Given the description of an element on the screen output the (x, y) to click on. 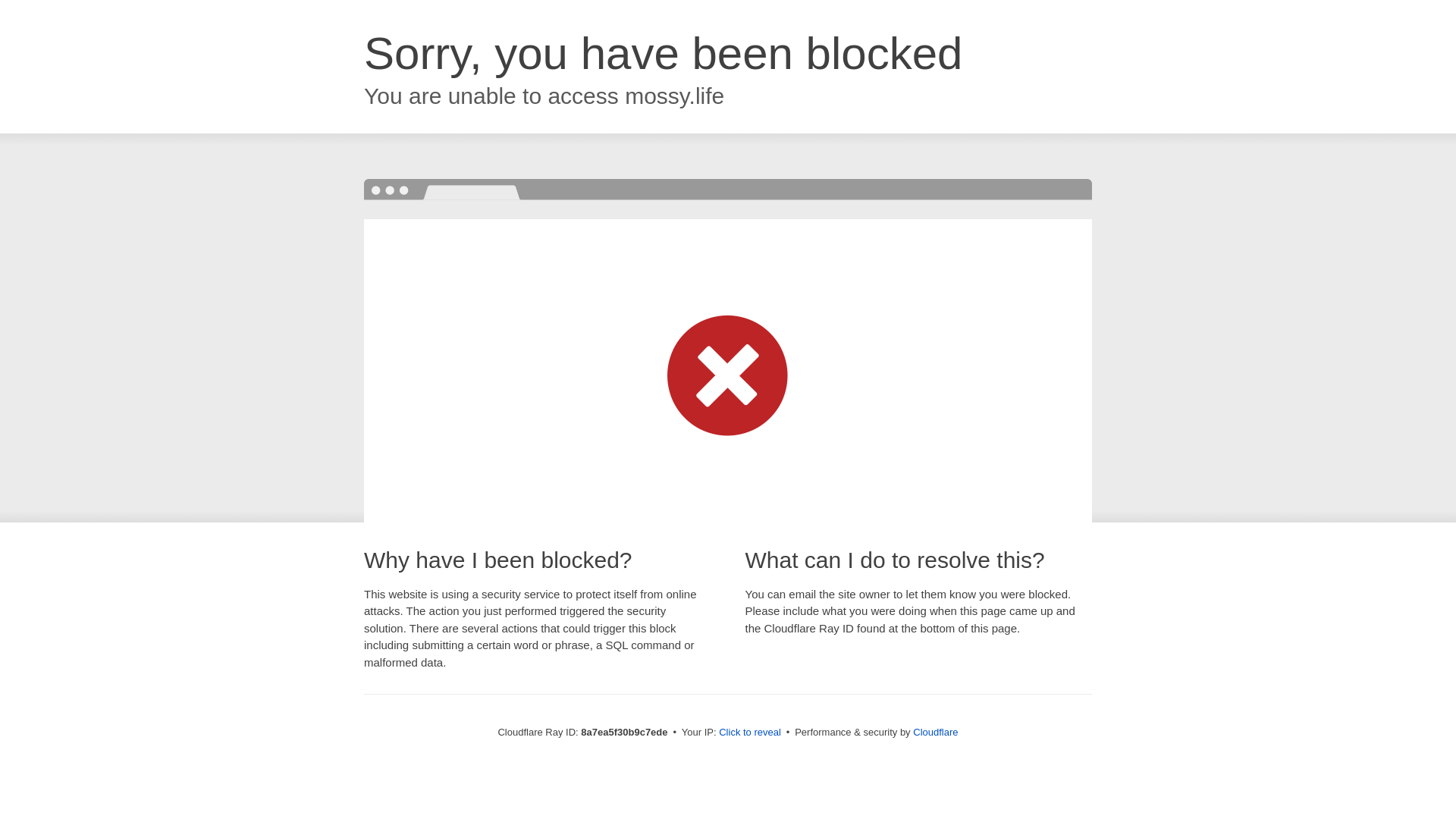
Click to reveal (749, 732)
Cloudflare (935, 731)
